Given the description of an element on the screen output the (x, y) to click on. 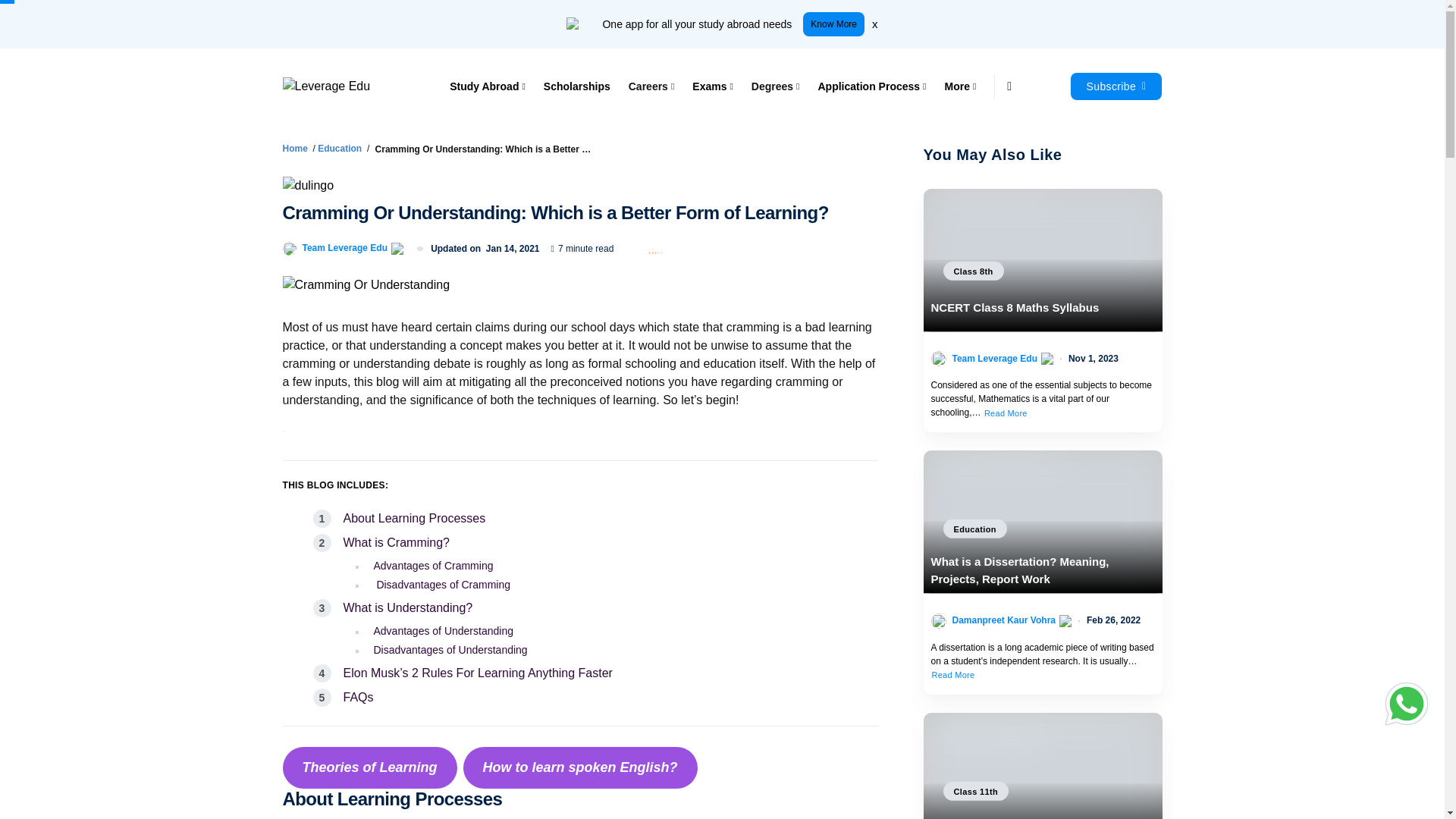
View all posts by Team Leverage Edu (344, 247)
View all posts by Team Leverage Edu (995, 358)
View all posts by Damanpreet Kaur Vohra (1003, 620)
